Given the description of an element on the screen output the (x, y) to click on. 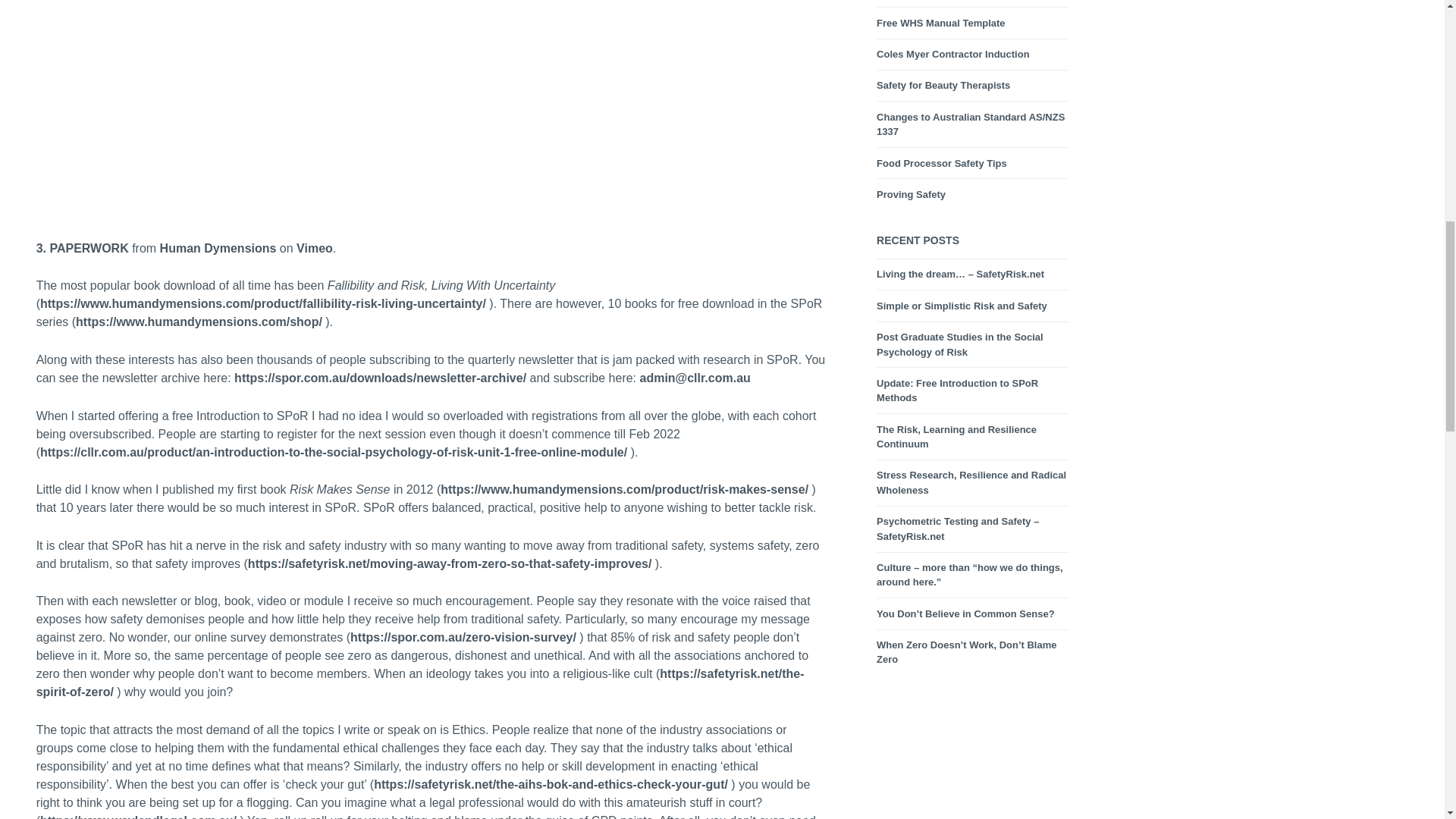
Vimeo (315, 248)
3. PAPERWORK (82, 248)
Human Dymensions (218, 248)
